Given the description of an element on the screen output the (x, y) to click on. 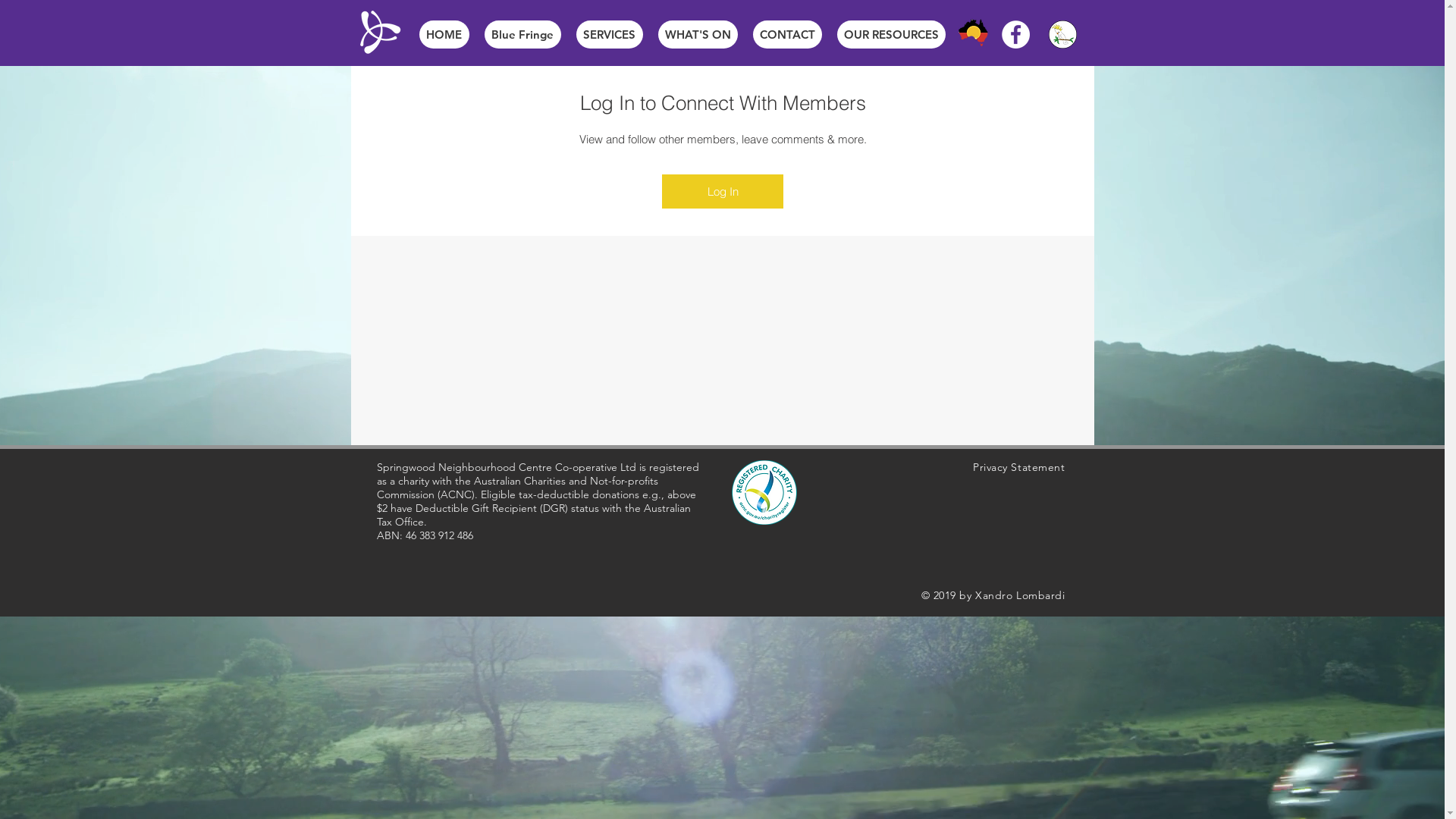
CONTACT Element type: text (786, 34)
Blue Fringe Element type: text (521, 34)
OUR RESOURCES Element type: text (891, 34)
Acknowledgement of Country Element type: hover (972, 32)
Members Element type: hover (721, 150)
SERVICES Element type: text (609, 34)
Privacy Statement Element type: text (1018, 466)
WHAT'S ON Element type: text (697, 34)
HOME Element type: text (443, 34)
